Given the description of an element on the screen output the (x, y) to click on. 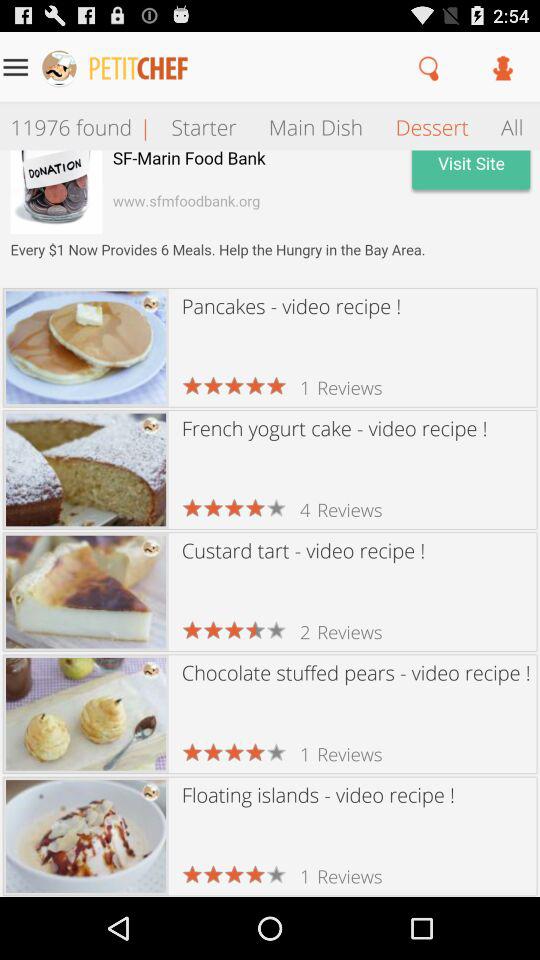
opens advertisement (270, 218)
